Given the description of an element on the screen output the (x, y) to click on. 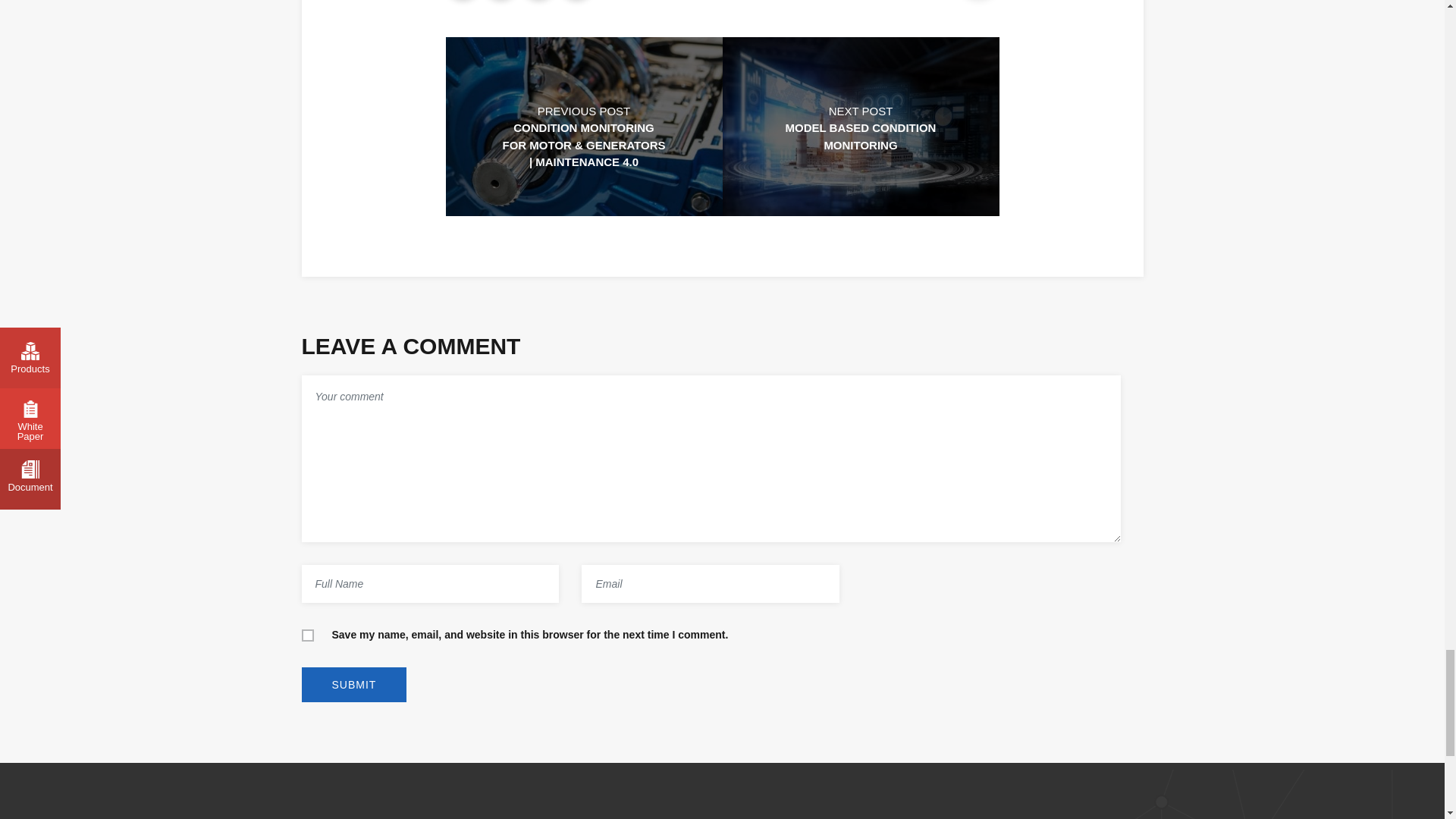
Submit (354, 684)
